Given the description of an element on the screen output the (x, y) to click on. 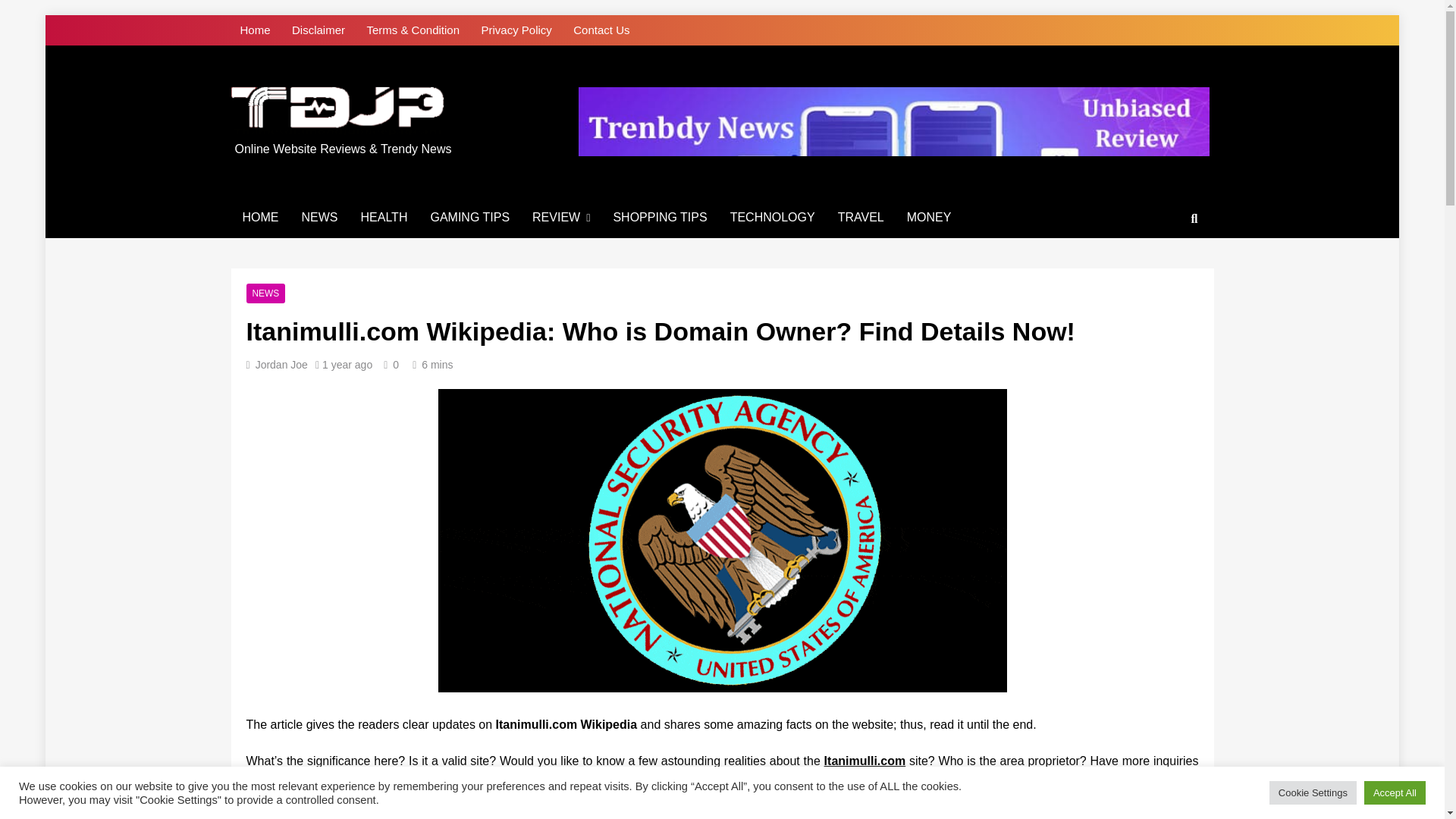
Thamesdiamondjubileepageant (469, 157)
MONEY (928, 217)
REVIEW (561, 217)
NEWS (265, 293)
NEWS (319, 217)
HEALTH (384, 217)
Disclaimer (317, 29)
Privacy Policy (515, 29)
Home (254, 29)
Jordan Joe (281, 364)
SHOPPING TIPS (659, 217)
1 year ago (346, 364)
GAMING TIPS (470, 217)
Contact Us (601, 29)
